Given the description of an element on the screen output the (x, y) to click on. 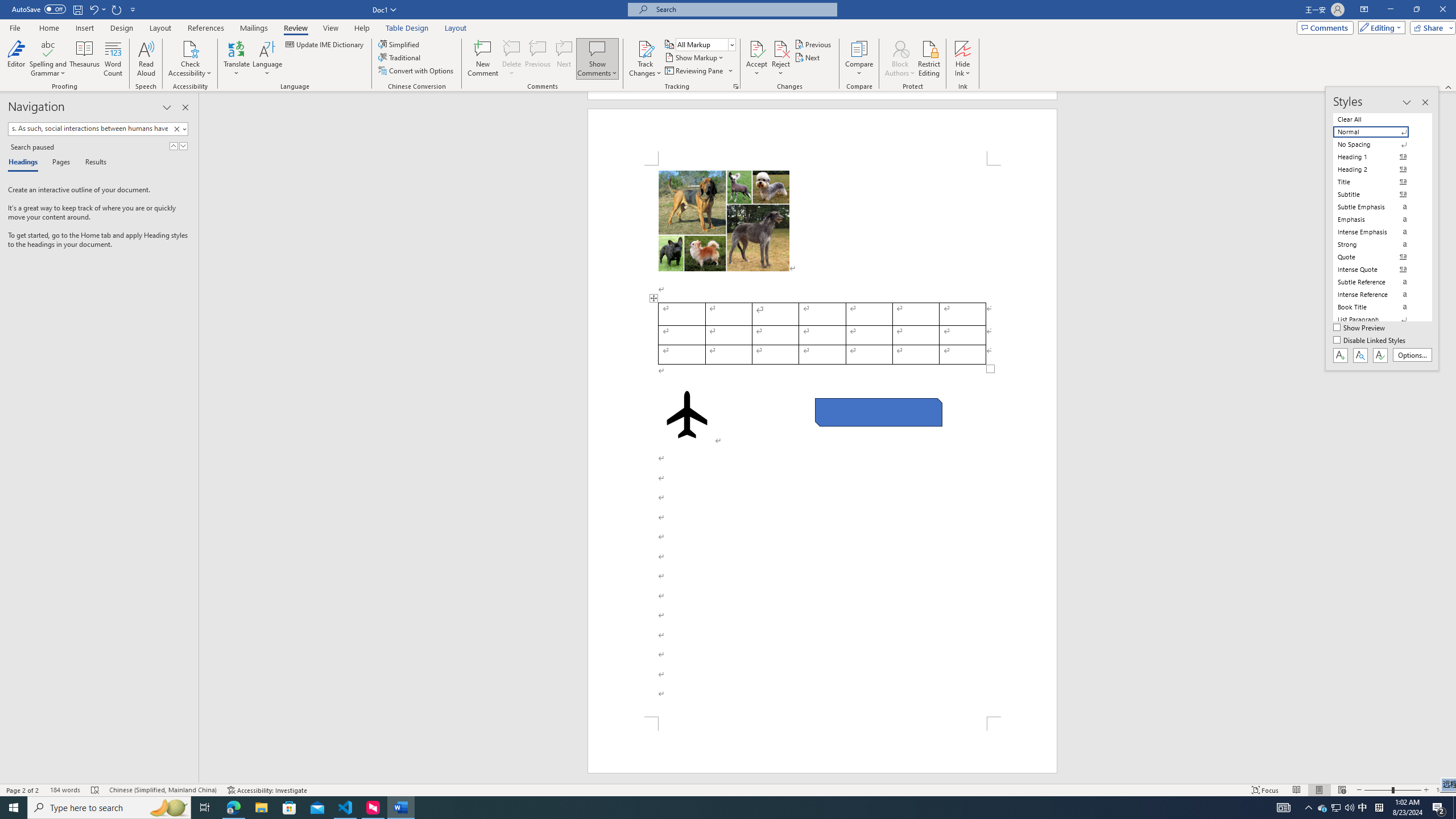
Read Aloud (145, 58)
Class: NetUIButton (1380, 355)
Review (295, 28)
Spelling and Grammar (48, 48)
AutoSave (38, 9)
Next Result (183, 145)
Delete (511, 48)
Design (122, 28)
Language Chinese (Simplified, Mainland China) (162, 790)
Word Count (113, 58)
Hide Ink (962, 48)
Accessibility Checker Accessibility: Investigate (266, 790)
Subtitle (1377, 194)
